Given the description of an element on the screen output the (x, y) to click on. 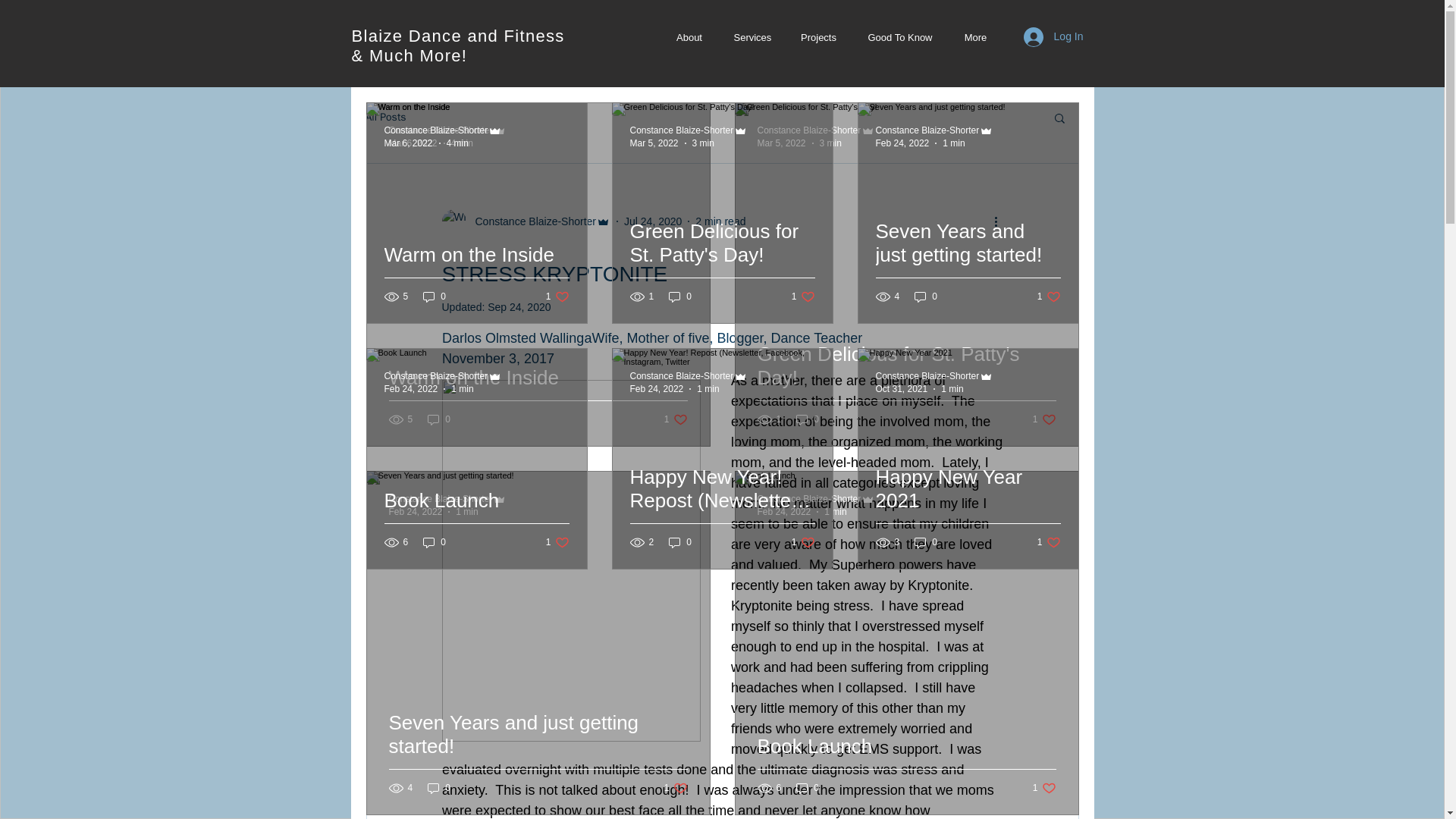
1 min (466, 511)
Constance Blaize-Shorter (808, 498)
Mar 6, 2022 (412, 143)
Constance Blaize-Shorter (440, 498)
Jul 24, 2020 (652, 221)
Feb 24, 2022 (783, 511)
4 min (457, 143)
About (688, 36)
Services (675, 419)
